Given the description of an element on the screen output the (x, y) to click on. 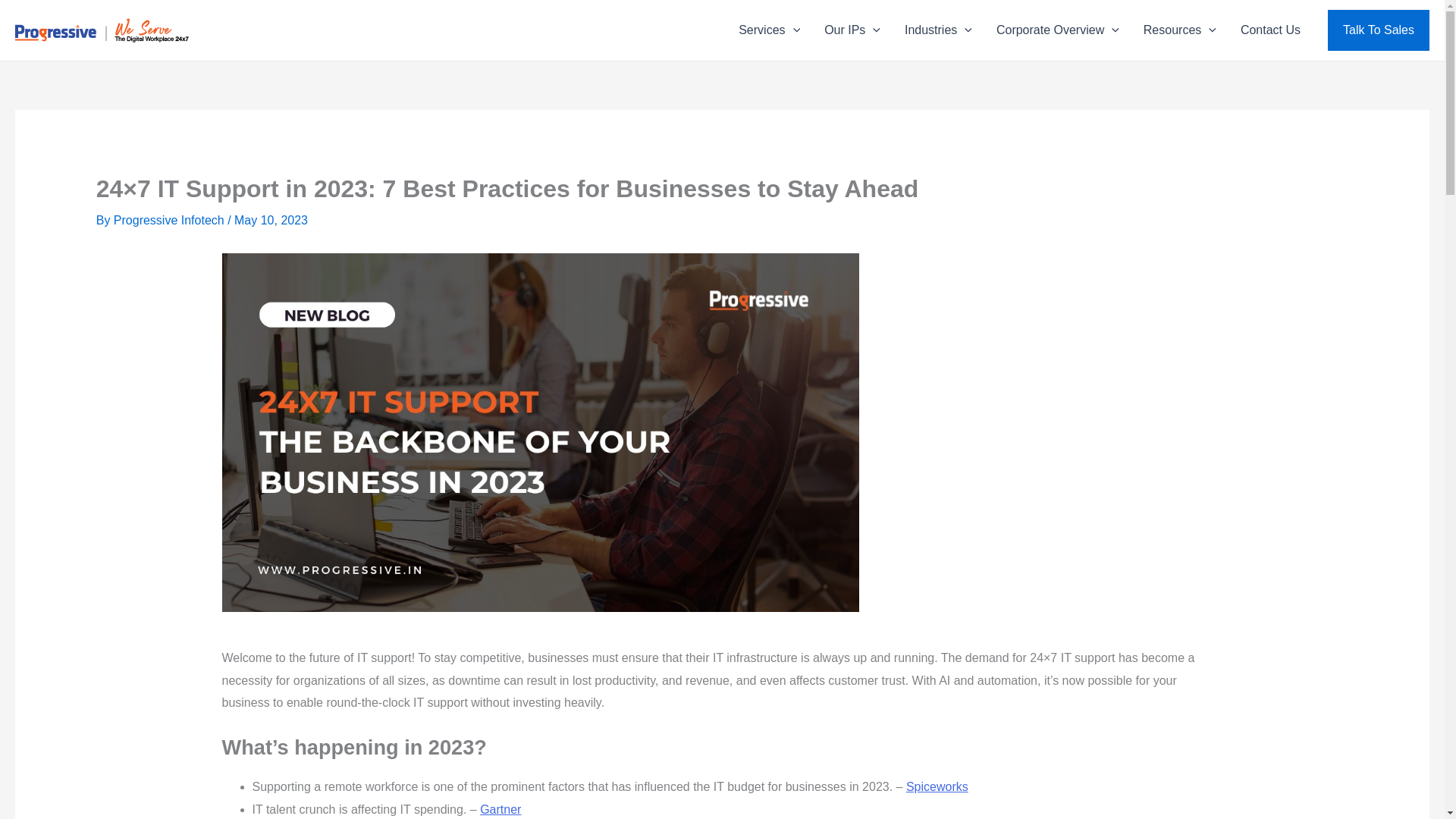
Services (769, 30)
Resources (1179, 30)
Industries (938, 30)
Corporate Overview (1057, 30)
View all posts by Progressive Infotech (170, 219)
Our IPs (852, 30)
